Given the description of an element on the screen output the (x, y) to click on. 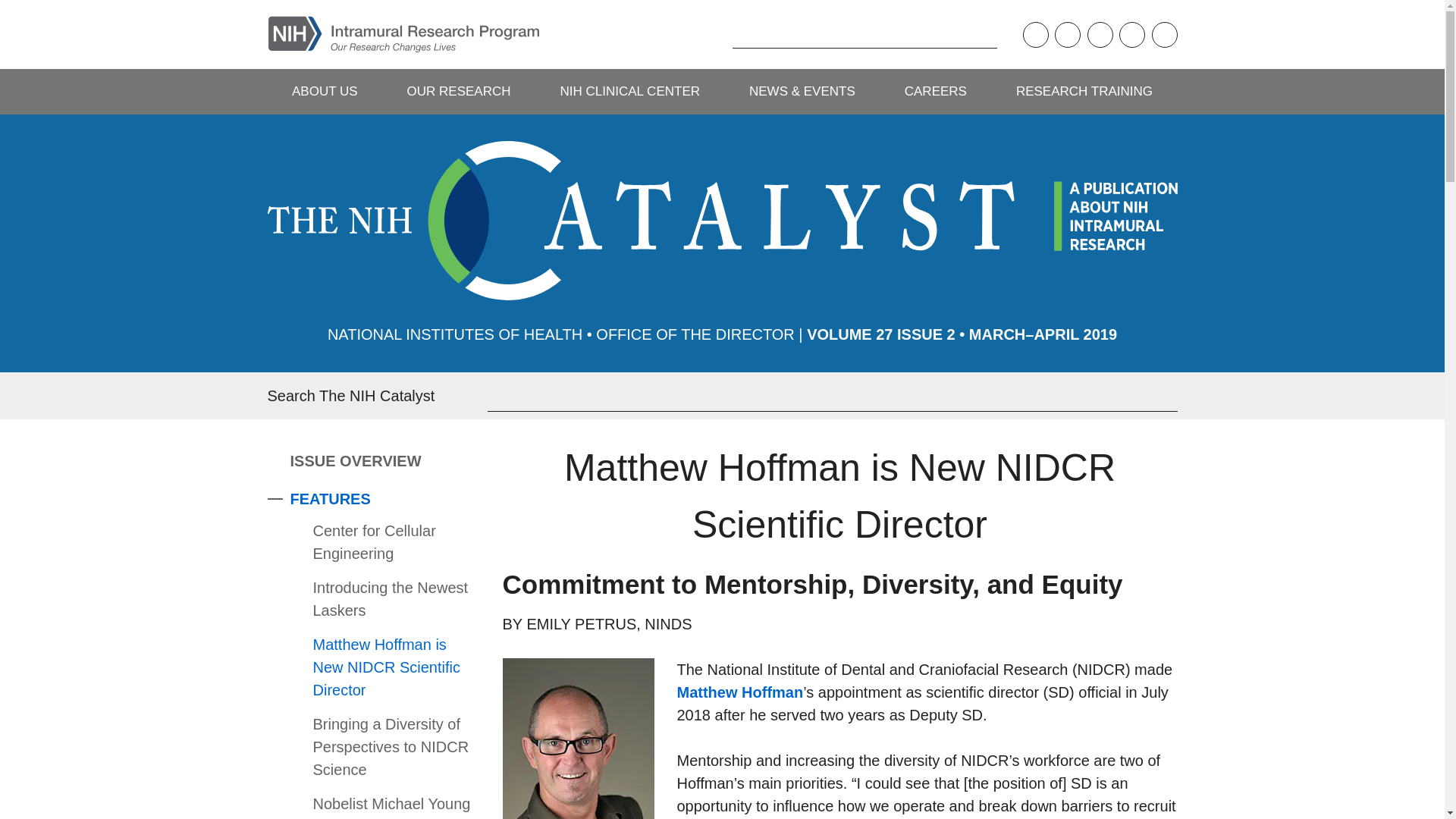
ABOUT US (323, 91)
SEARCH (707, 34)
Skip to main content (11, 11)
Podcast (1035, 34)
